Given the description of an element on the screen output the (x, y) to click on. 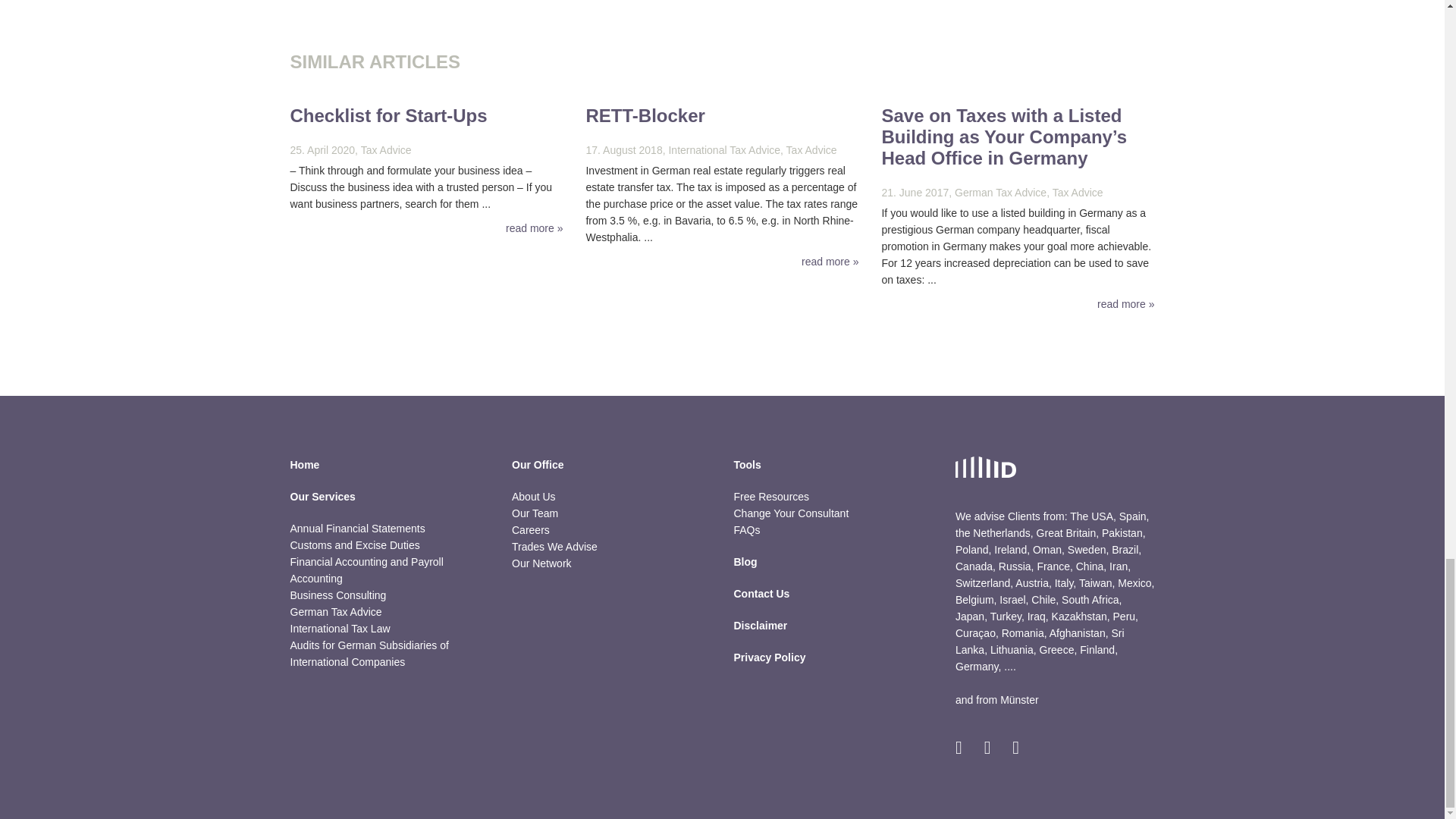
Home (389, 472)
German Tax Advice (335, 612)
Financial Accounting and Payroll Accounting (365, 570)
Our Services (389, 504)
International Tax Law (339, 628)
Annual Financial Statements (357, 528)
Business Consulting (337, 594)
Customs and Excise Duties (354, 544)
Audits for German Subsidiaries of International Companies (368, 653)
Our Office (611, 472)
